Given the description of an element on the screen output the (x, y) to click on. 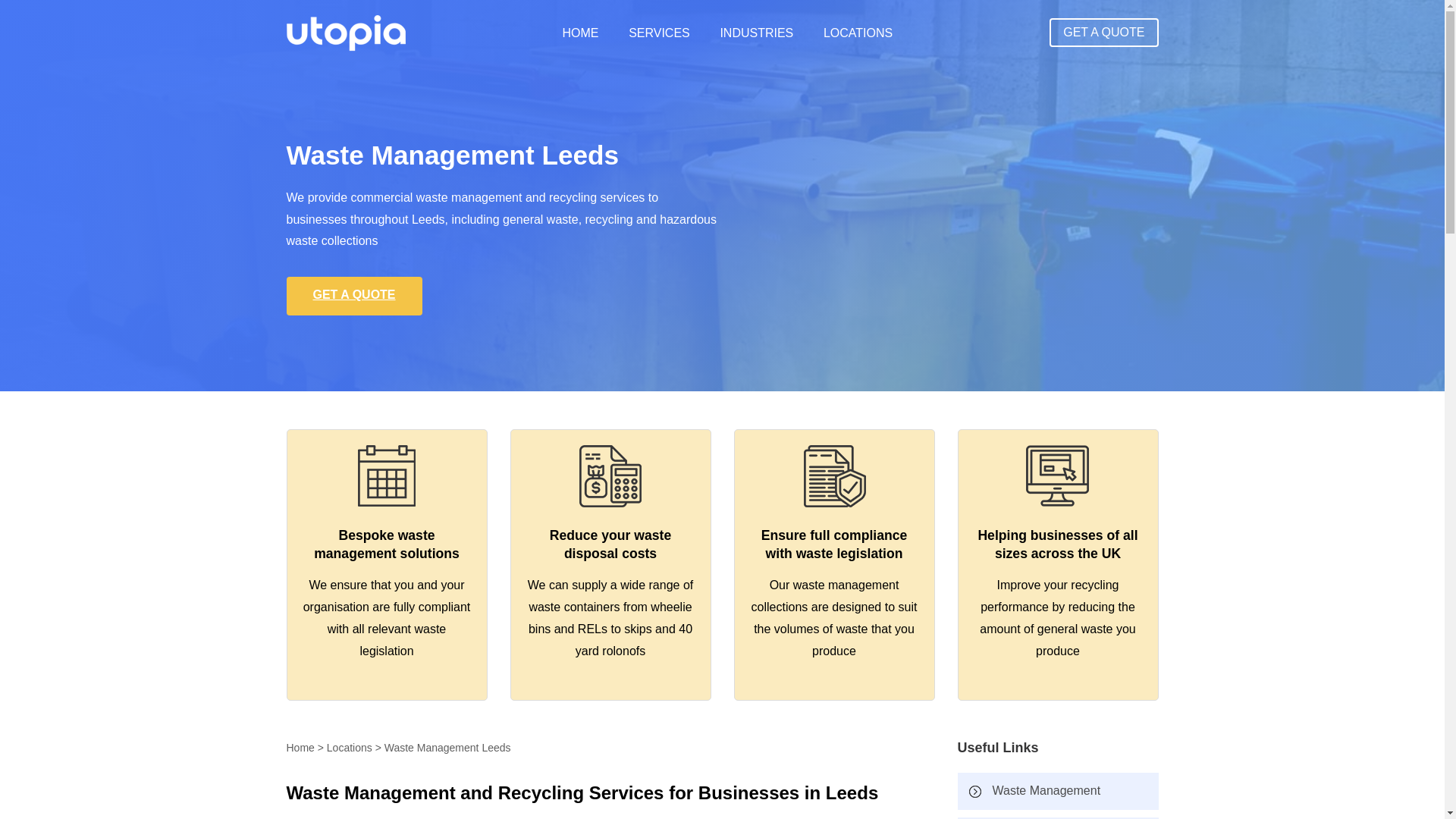
Locations (349, 747)
HOME (580, 32)
LOCATIONS (858, 32)
GET A QUOTE (354, 295)
SERVICES (659, 32)
INDUSTRIES (756, 32)
Home (300, 747)
GET A QUOTE (1103, 31)
Waste Management (1056, 791)
